Given the description of an element on the screen output the (x, y) to click on. 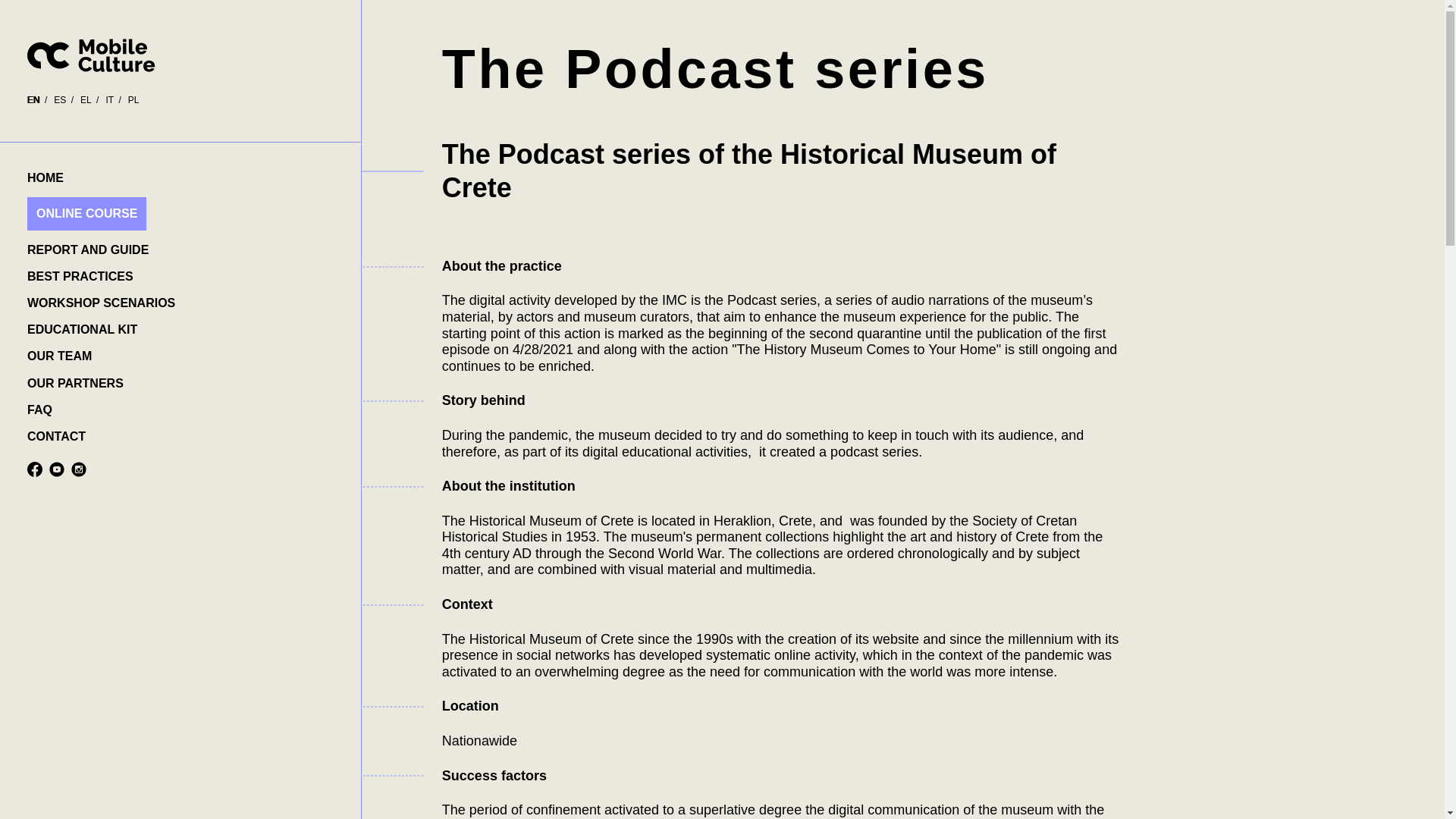
WORKSHOP SCENARIOS (100, 302)
CONTACT (56, 436)
EL (85, 100)
OUR PARTNERS (75, 382)
EN (33, 100)
OUR TEAM (59, 355)
EDUCATIONAL KIT (81, 329)
ONLINE COURSE (86, 213)
PL (133, 100)
BEST PRACTICES (80, 276)
FAQ (39, 409)
HOME (45, 177)
ES (59, 100)
REPORT AND GUIDE (87, 249)
